Given the description of an element on the screen output the (x, y) to click on. 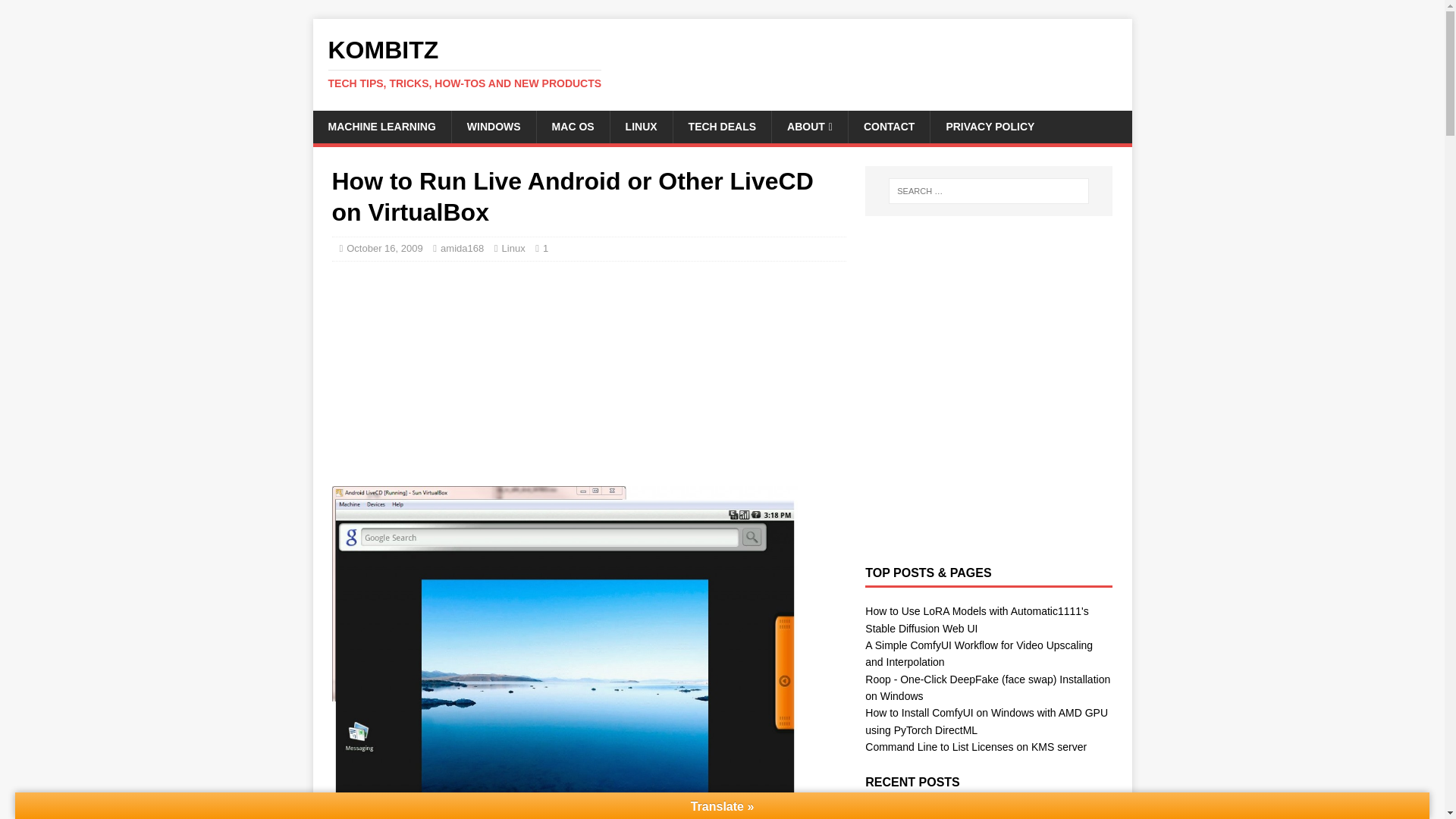
MAC OS (572, 126)
MACHINE LEARNING (381, 126)
LINUX (641, 126)
PRIVACY POLICY (989, 126)
October 16, 2009 (384, 247)
kombitz (721, 63)
ABOUT (809, 126)
Advertisement (445, 371)
Linux (513, 247)
CONTACT (888, 126)
TECH DEALS (721, 126)
amida168 (462, 247)
WINDOWS (721, 63)
